Given the description of an element on the screen output the (x, y) to click on. 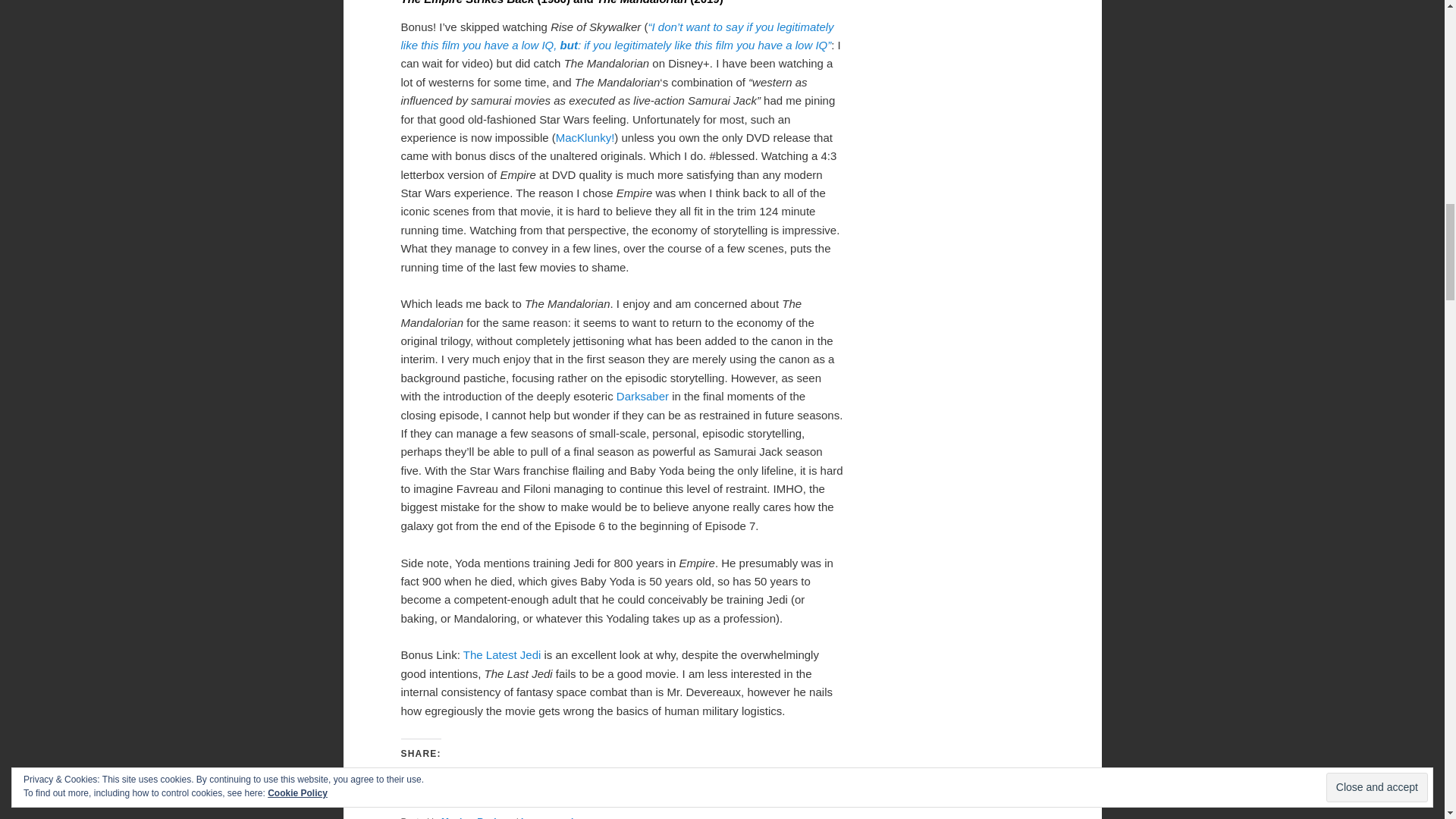
More (526, 781)
Click to share on Twitter (412, 781)
The Latest Jedi (502, 654)
Click to share on LinkedIn (442, 781)
MacKlunky! (585, 137)
Leave a reply (549, 817)
Movies (456, 817)
Darksaber (641, 395)
Click to email a link to a friend (472, 781)
Reviews (495, 817)
